Given the description of an element on the screen output the (x, y) to click on. 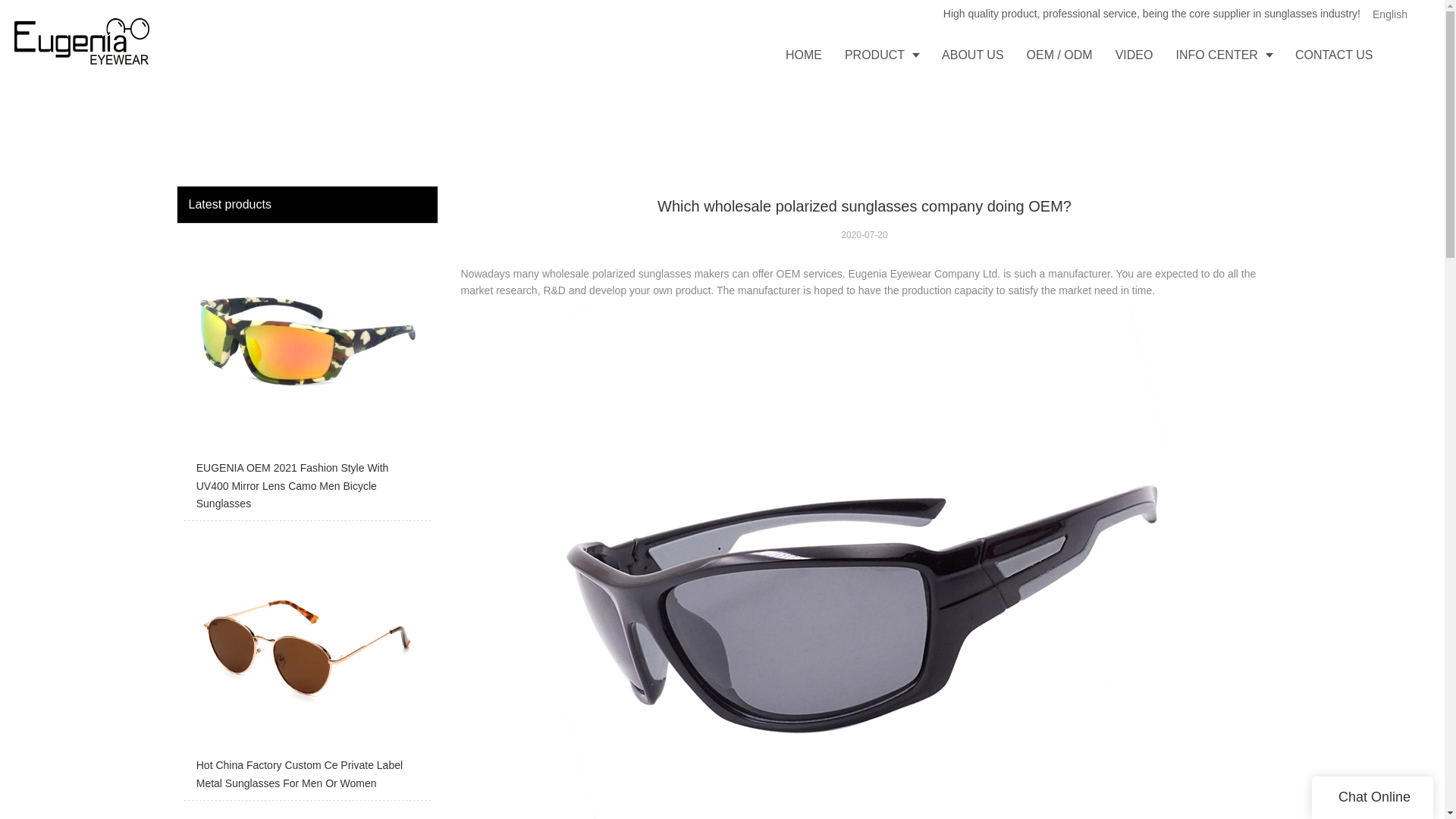
PRODUCT (881, 55)
ABOUT US (972, 55)
VIDEO (1133, 55)
CONTACT US (1334, 55)
HOME (803, 55)
factory wholesale 30ml optical trial lens spray cleaner set (306, 813)
INFO CENTER (1222, 55)
